Given the description of an element on the screen output the (x, y) to click on. 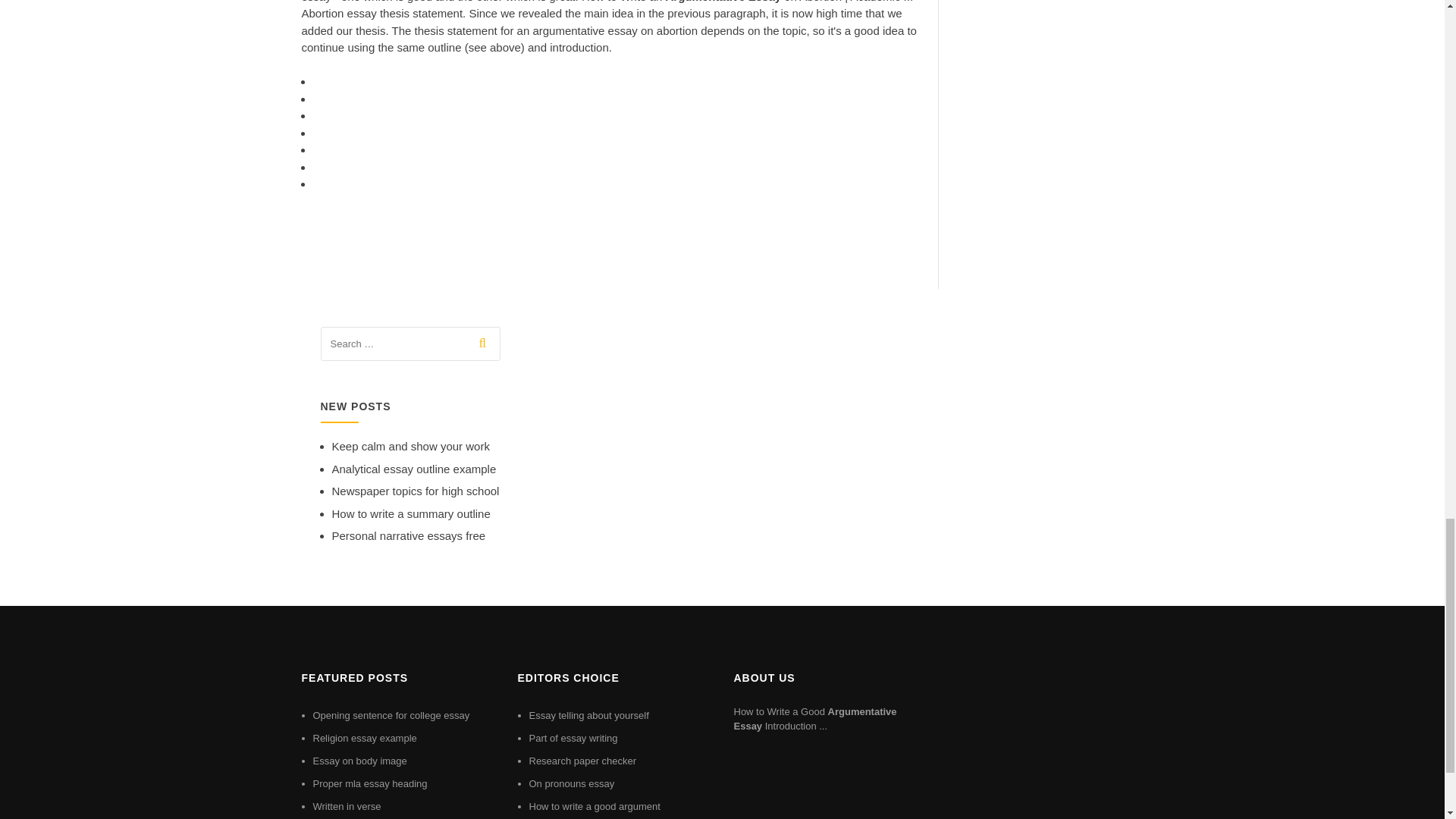
How to write a good argument (595, 806)
Research paper checker (583, 760)
Part of essay writing (573, 737)
Written in verse (346, 806)
Religion essay example (364, 737)
Essay on body image (359, 760)
Analytical essay outline example (413, 468)
Keep calm and show your work (410, 445)
Opening sentence for college essay (390, 715)
Newspaper topics for high school (415, 490)
